Given the description of an element on the screen output the (x, y) to click on. 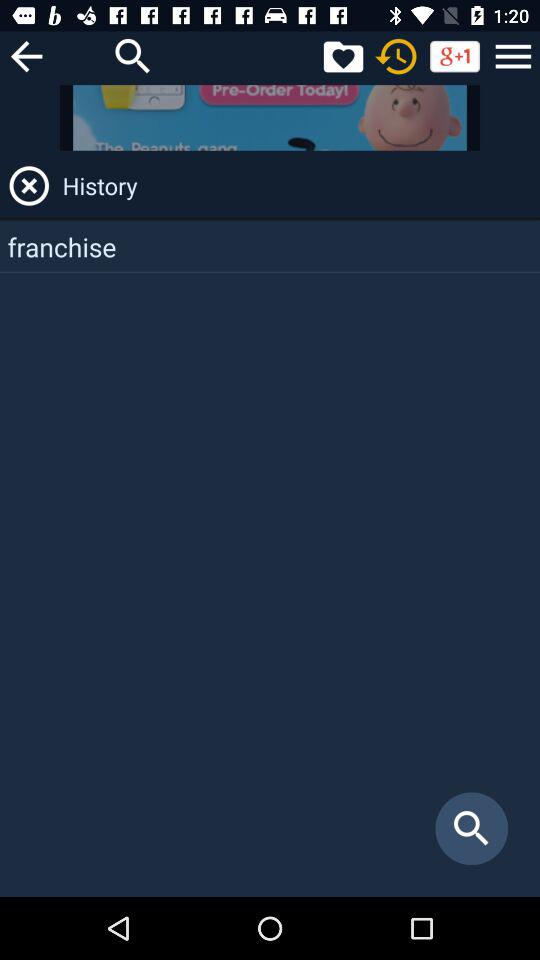
return time button (396, 56)
